Given the description of an element on the screen output the (x, y) to click on. 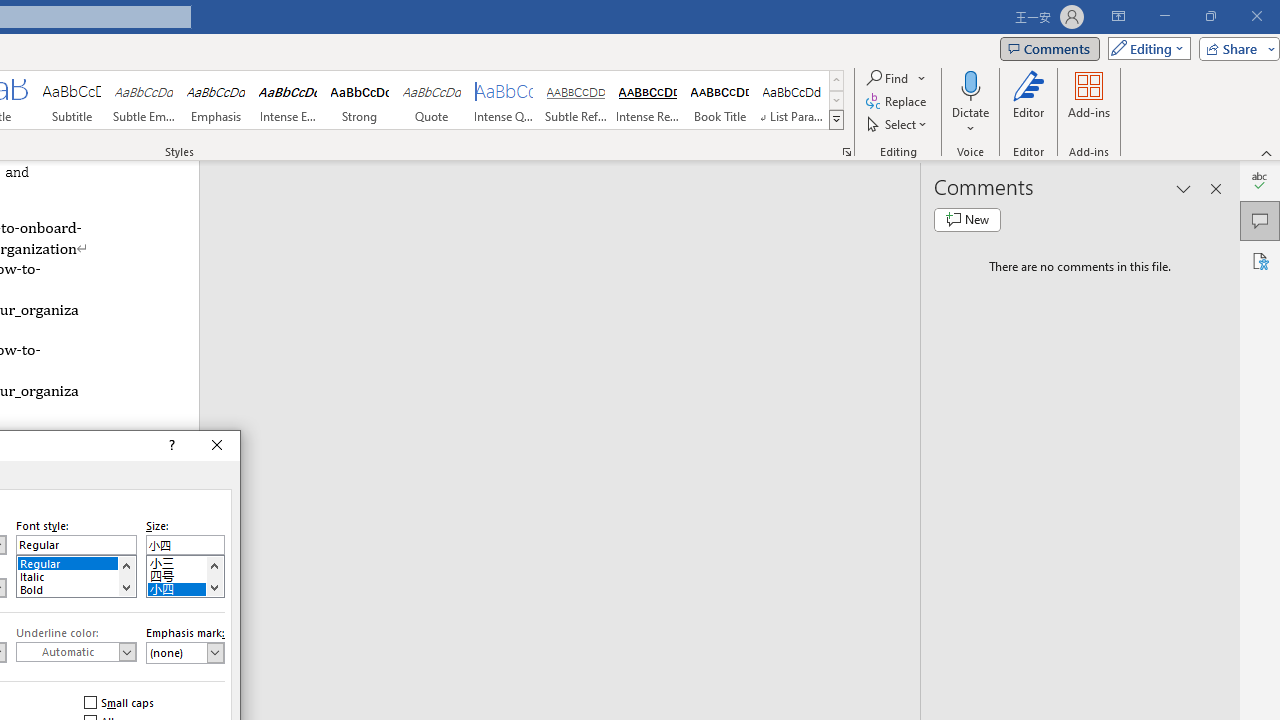
Small caps (120, 702)
Intense Emphasis (287, 100)
Editor (1260, 180)
Intense Quote (504, 100)
Class: NetUIImage (836, 119)
Styles (836, 120)
Dictate (970, 84)
Size: (185, 544)
Quote (431, 100)
Share (1235, 48)
Font style: (75, 544)
Row up (836, 79)
Intense Reference (647, 100)
Regular (75, 561)
Bold (75, 587)
